Given the description of an element on the screen output the (x, y) to click on. 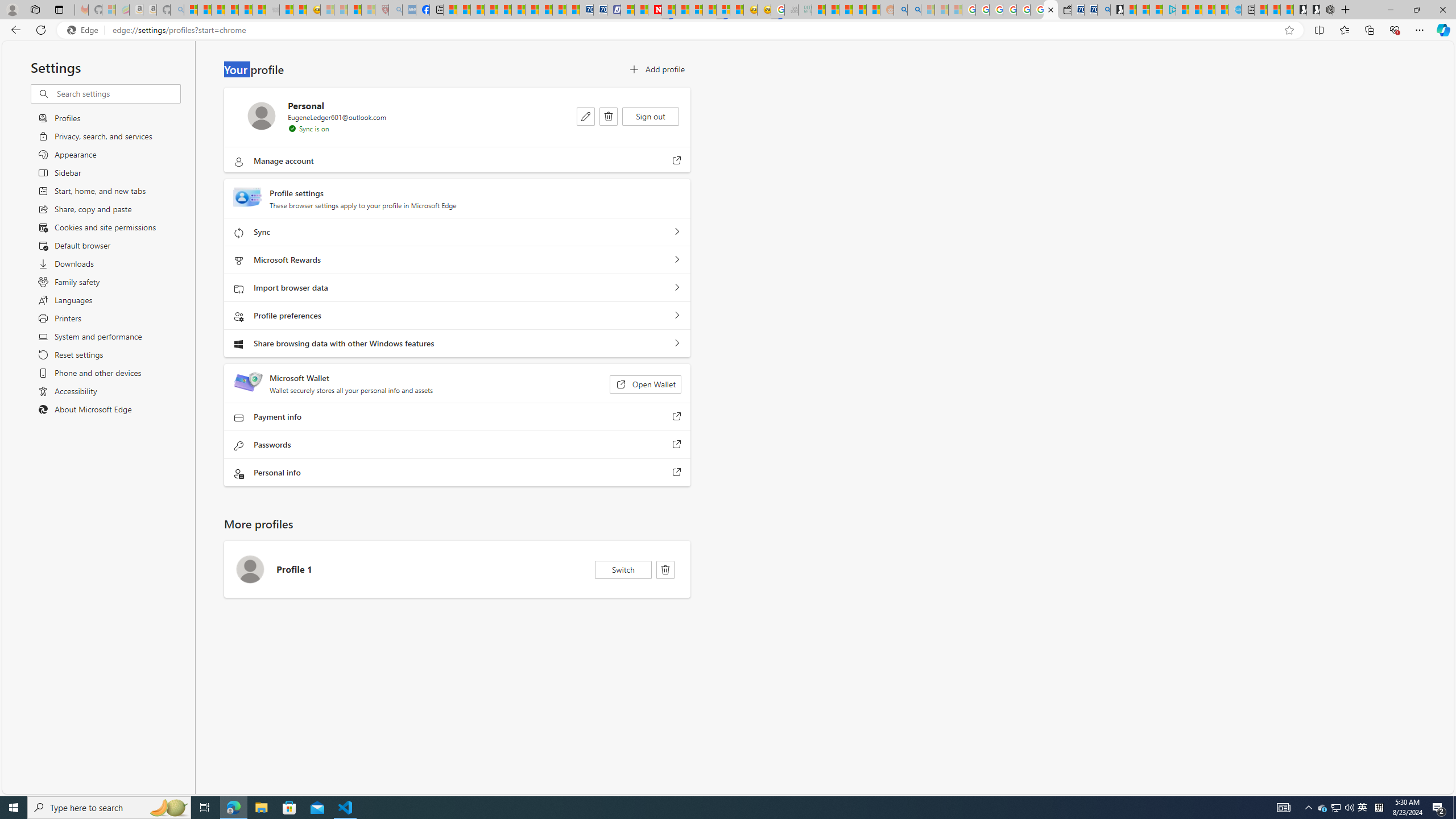
Profile 1 Avatar icon (249, 568)
Share browsing data with other Windows features (676, 343)
Sign out (650, 116)
Edit (585, 116)
Combat Siege - Sleeping (271, 9)
Class: c01881 (608, 116)
Profile 1 (457, 568)
